Given the description of an element on the screen output the (x, y) to click on. 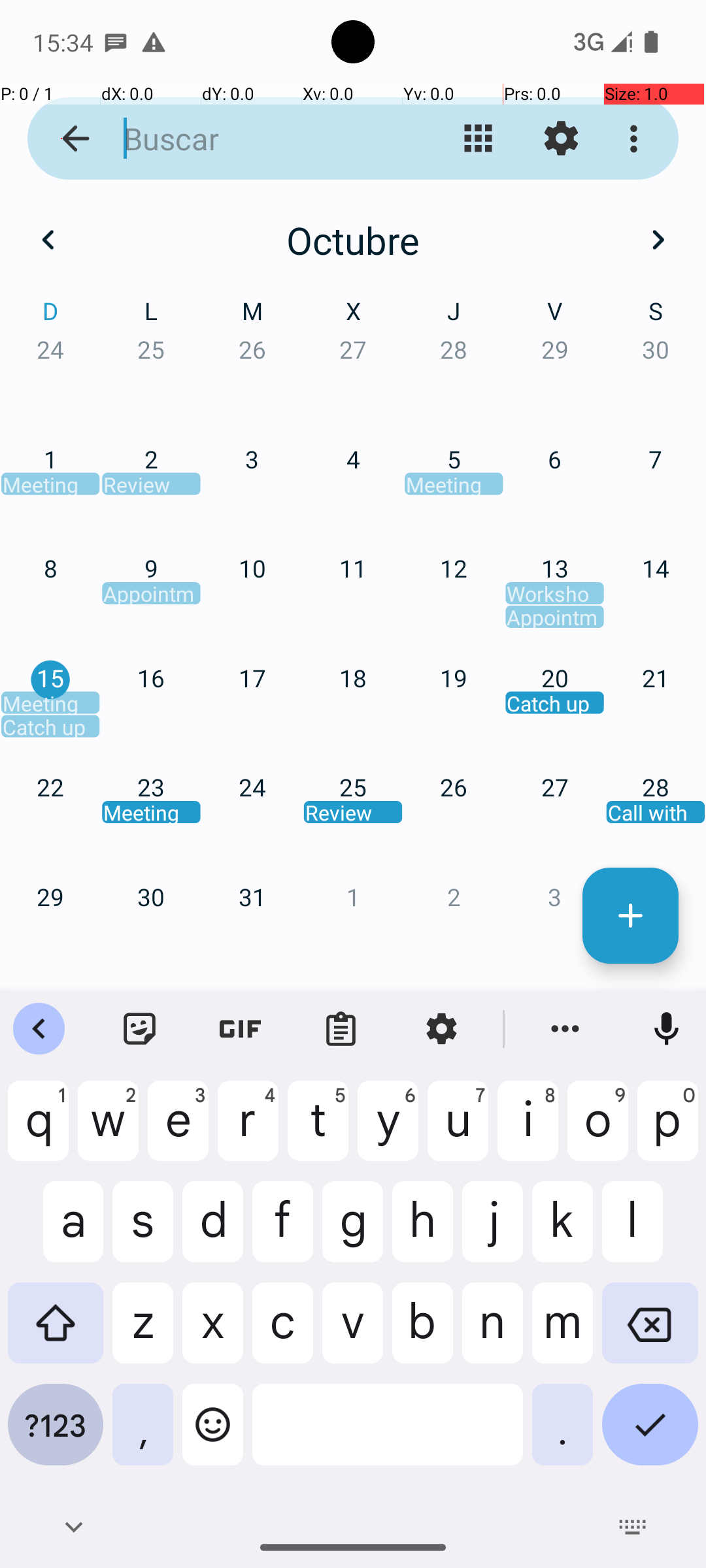
Octubre Element type: android.widget.TextView (352, 239)
